Given the description of an element on the screen output the (x, y) to click on. 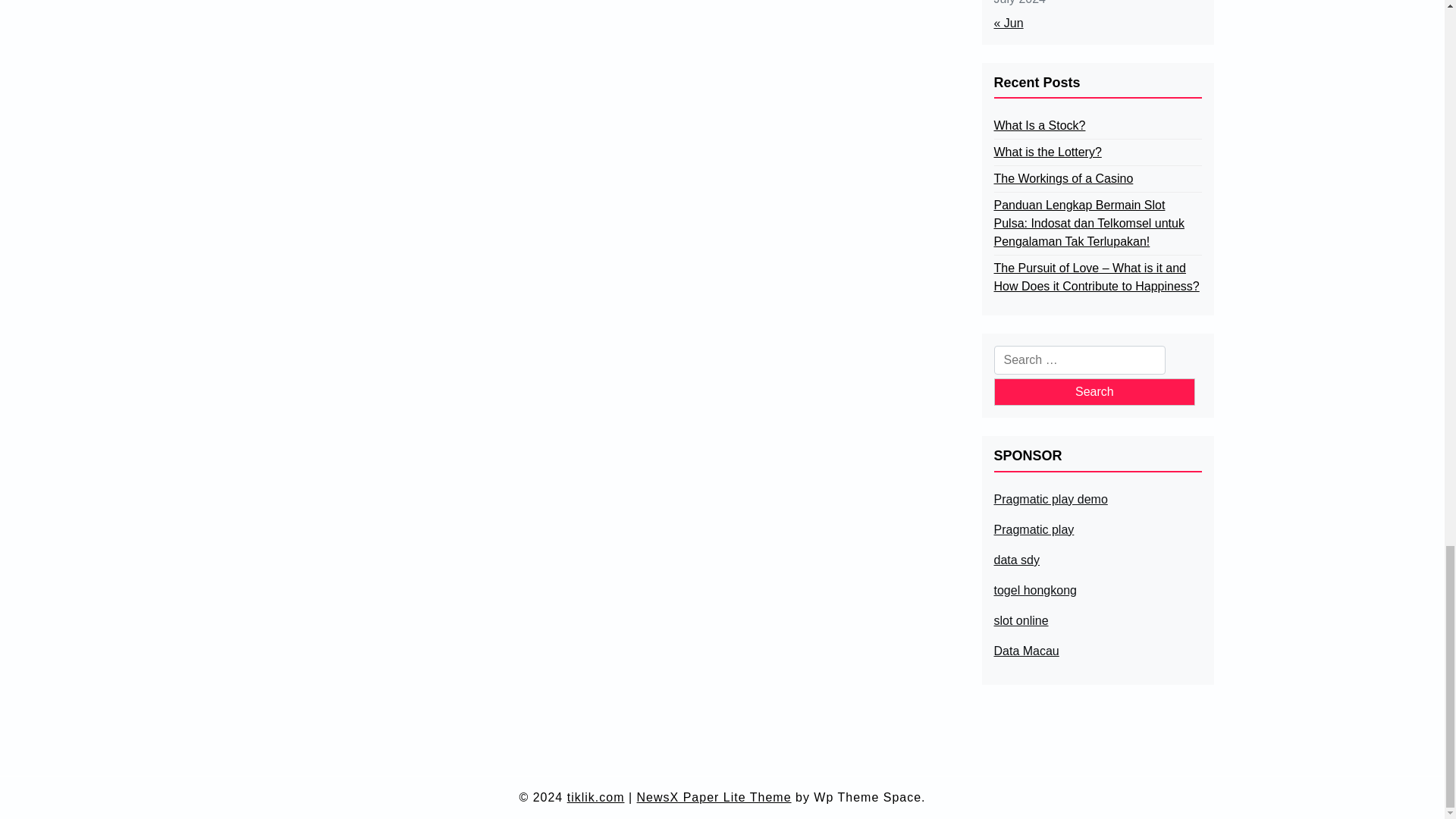
Search (1093, 391)
Search (1093, 391)
